Given the description of an element on the screen output the (x, y) to click on. 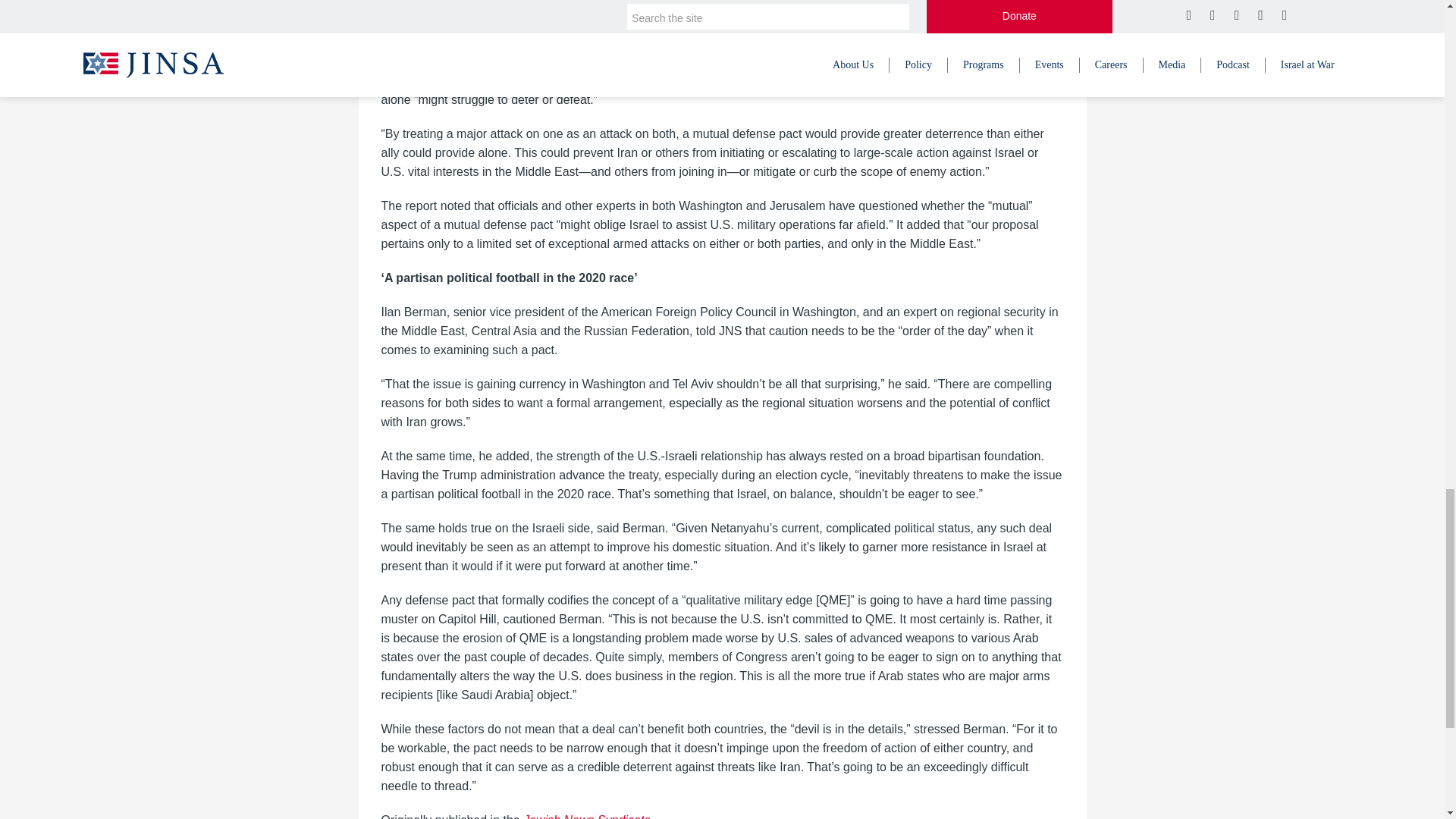
Jewish News Syndicate. (587, 816)
